Given the description of an element on the screen output the (x, y) to click on. 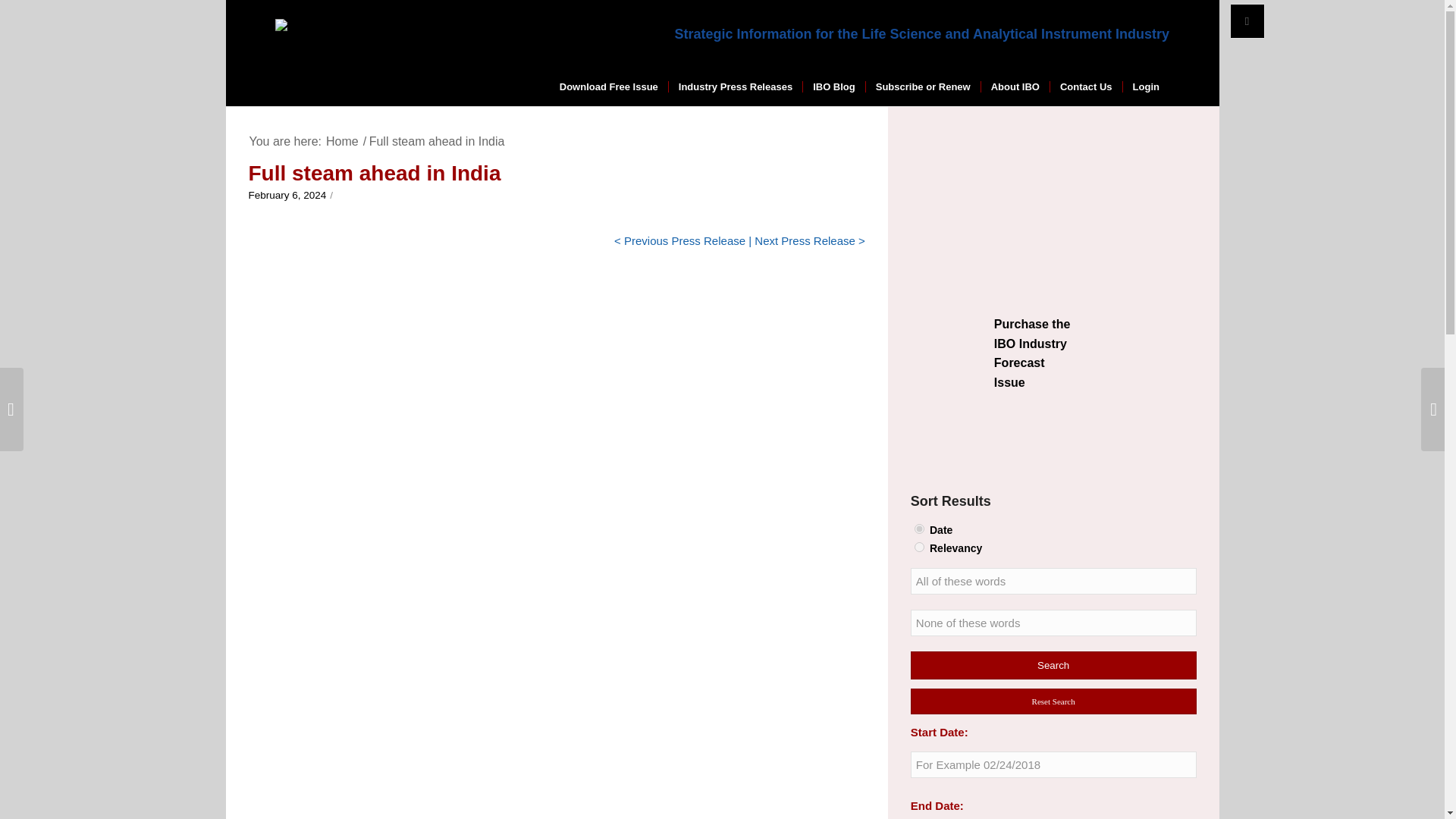
date (919, 528)
Subscribe or Renew (921, 86)
IBO Blog (833, 86)
Previous Press Release (684, 240)
IBO (342, 141)
relevancy (919, 547)
Download Free Issue (609, 86)
Home (342, 141)
Next Press Release (805, 240)
Industry Press Releases (735, 86)
